Given the description of an element on the screen output the (x, y) to click on. 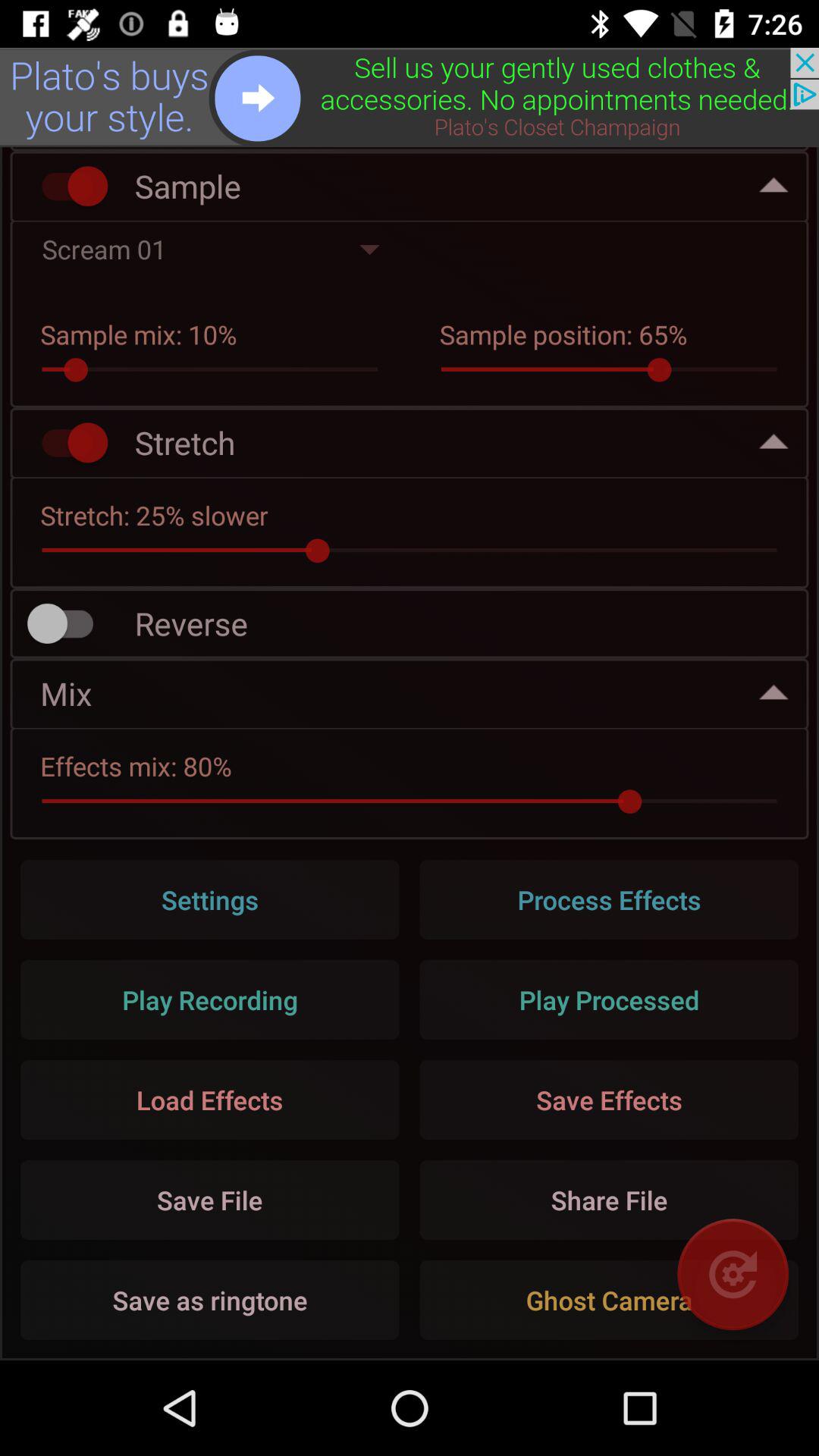
toggle stretch option (67, 442)
